Given the description of an element on the screen output the (x, y) to click on. 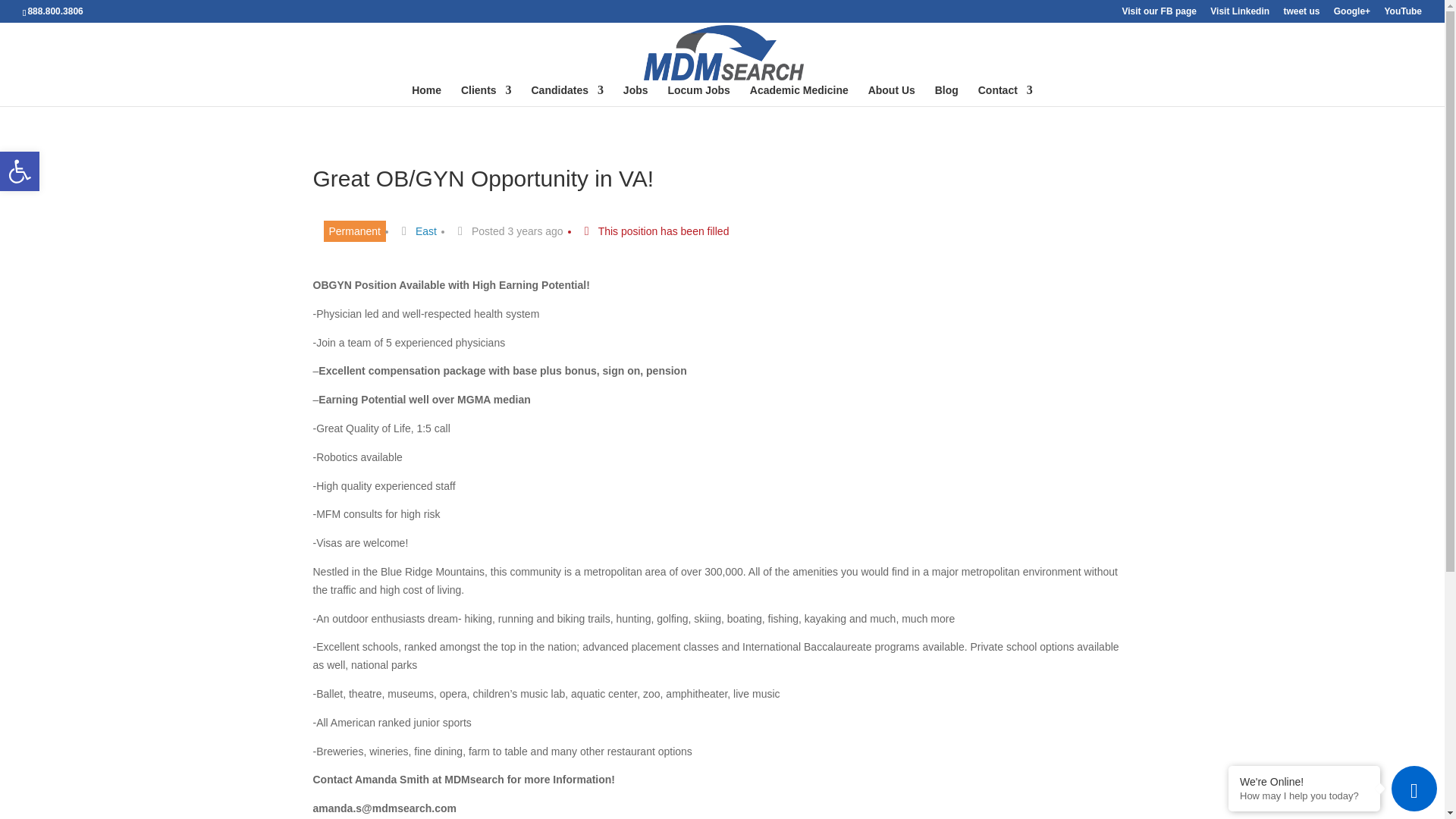
We're Online! (1304, 781)
Visit our FB page (19, 170)
Links Underline (1158, 14)
Increase Text (891, 95)
Visit Linkedin (798, 95)
How may I help you today? (1239, 14)
Grayscale (1304, 795)
Reset (1403, 14)
Locum Jobs (1005, 95)
